Given the description of an element on the screen output the (x, y) to click on. 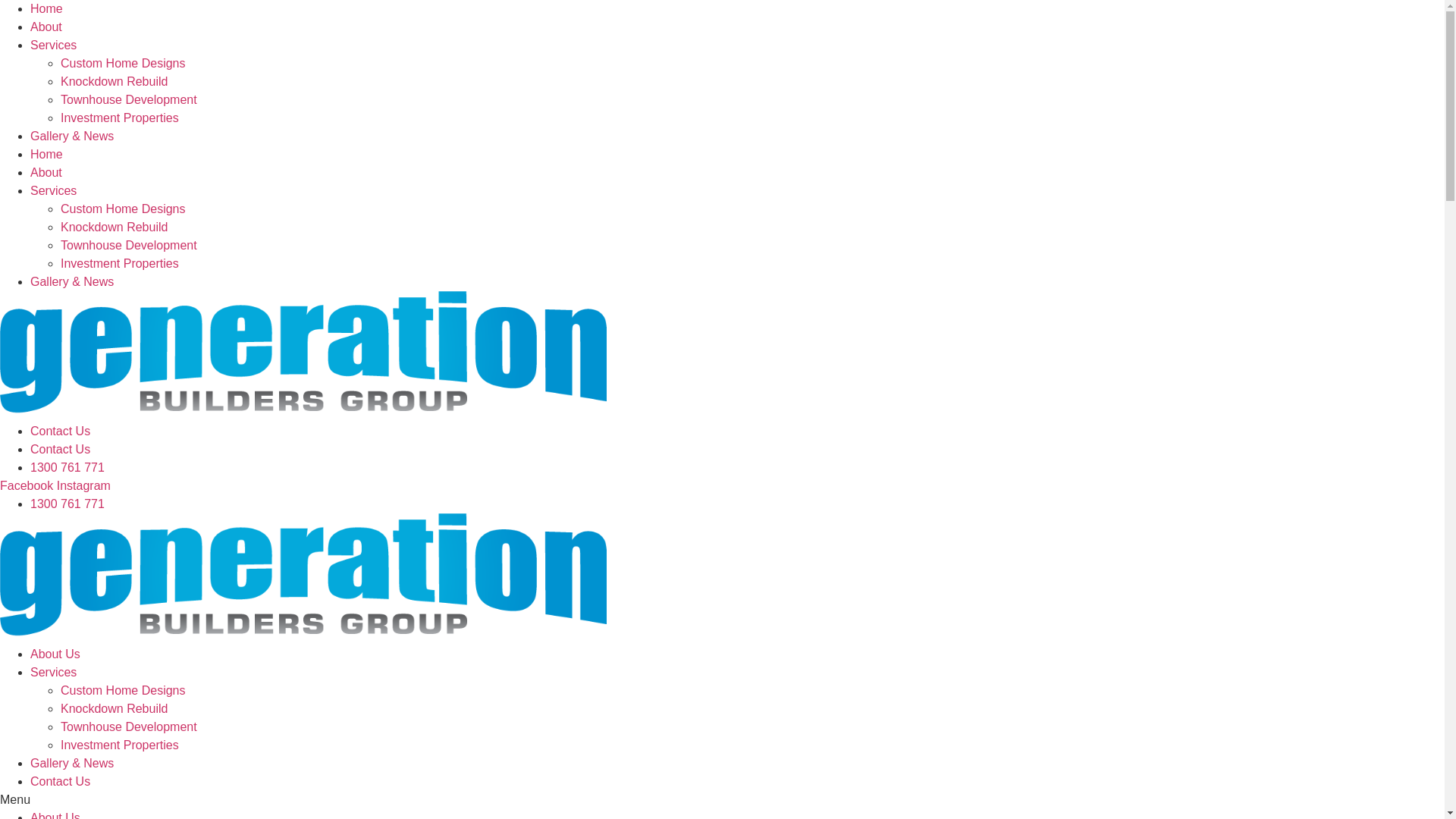
Townhouse Development Element type: text (128, 726)
Custom Home Designs Element type: text (122, 690)
Investment Properties Element type: text (119, 744)
Contact Us Element type: text (60, 781)
Knockdown Rebuild Element type: text (113, 81)
Custom Home Designs Element type: text (122, 208)
1300 761 771 Element type: text (67, 467)
Knockdown Rebuild Element type: text (113, 708)
Instagram Element type: text (83, 485)
About Element type: text (46, 26)
Home Element type: text (46, 8)
About Us Element type: text (55, 653)
Services Element type: text (53, 671)
About Element type: text (46, 172)
Investment Properties Element type: text (119, 117)
Home Element type: text (46, 153)
Townhouse Development Element type: text (128, 244)
Services Element type: text (53, 190)
Investment Properties Element type: text (119, 263)
Gallery & News Element type: text (71, 281)
Contact Us Element type: text (60, 430)
Contact Us Element type: text (60, 448)
Gallery & News Element type: text (71, 135)
1300 761 771 Element type: text (67, 503)
Townhouse Development Element type: text (128, 99)
Services Element type: text (53, 44)
Gallery & News Element type: text (71, 762)
Custom Home Designs Element type: text (122, 62)
Knockdown Rebuild Element type: text (113, 226)
Facebook Element type: text (28, 485)
